Given the description of an element on the screen output the (x, y) to click on. 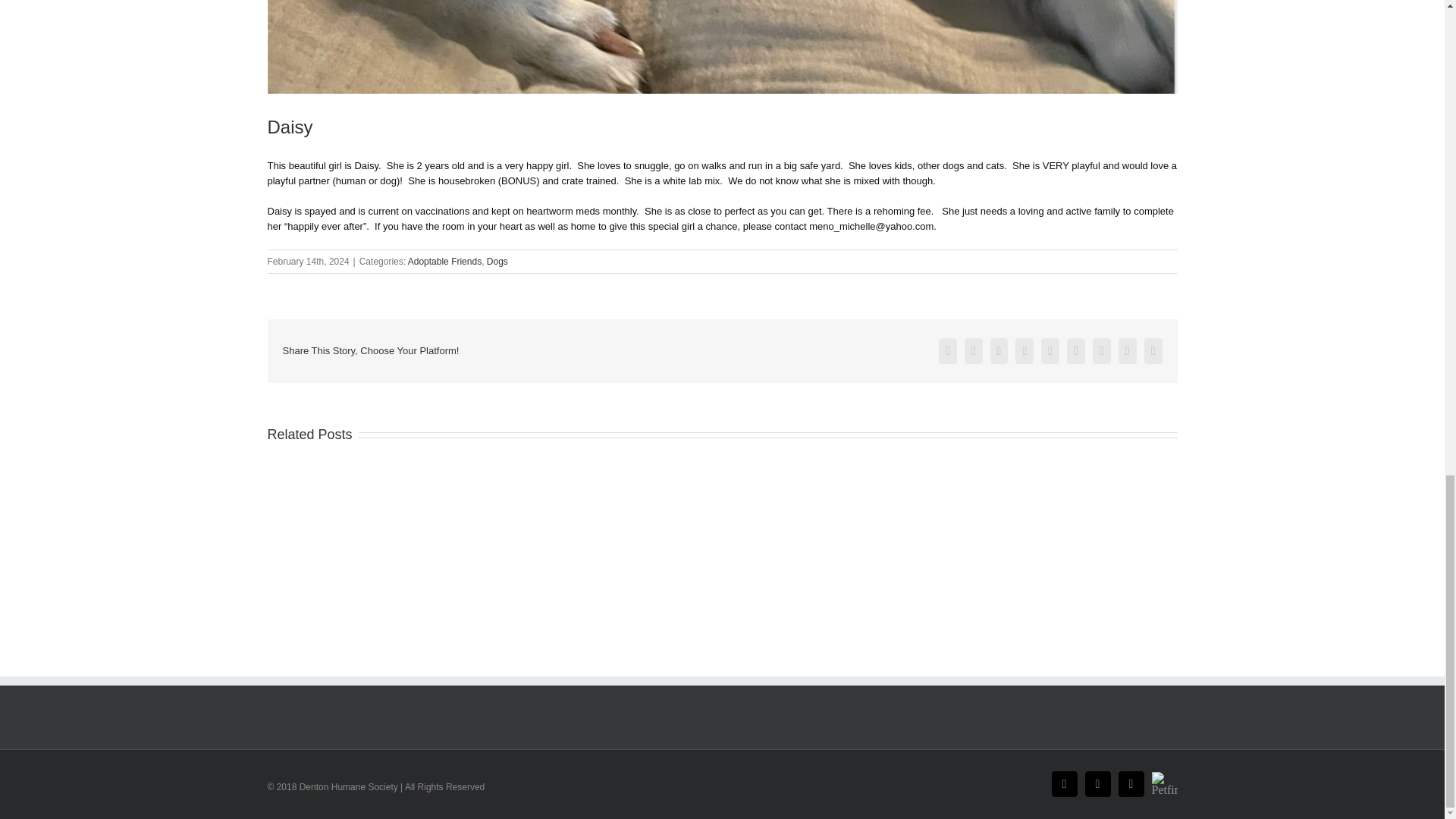
LinkedIn (999, 350)
Adoptable Friends (444, 261)
Reddit (1023, 350)
LinkedIn (999, 350)
Twitter (972, 350)
Facebook (947, 350)
Reddit (1023, 350)
Dogs (497, 261)
Tumblr (1075, 350)
Twitter (972, 350)
View Larger Image (721, 47)
Facebook (947, 350)
